Given the description of an element on the screen output the (x, y) to click on. 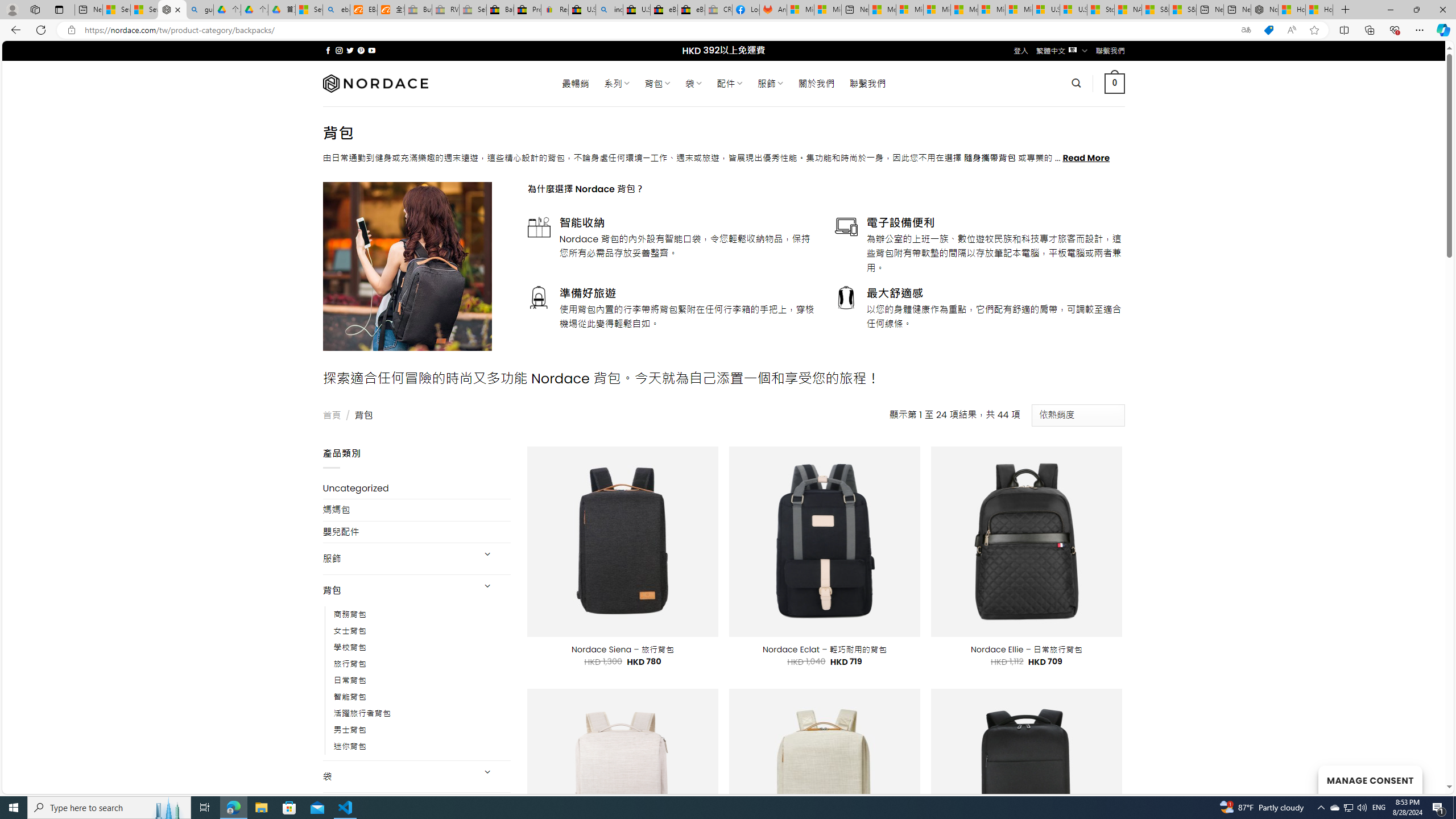
Press Room - eBay Inc. (527, 9)
Buy Auto Parts & Accessories | eBay - Sleeping (418, 9)
